Given the description of an element on the screen output the (x, y) to click on. 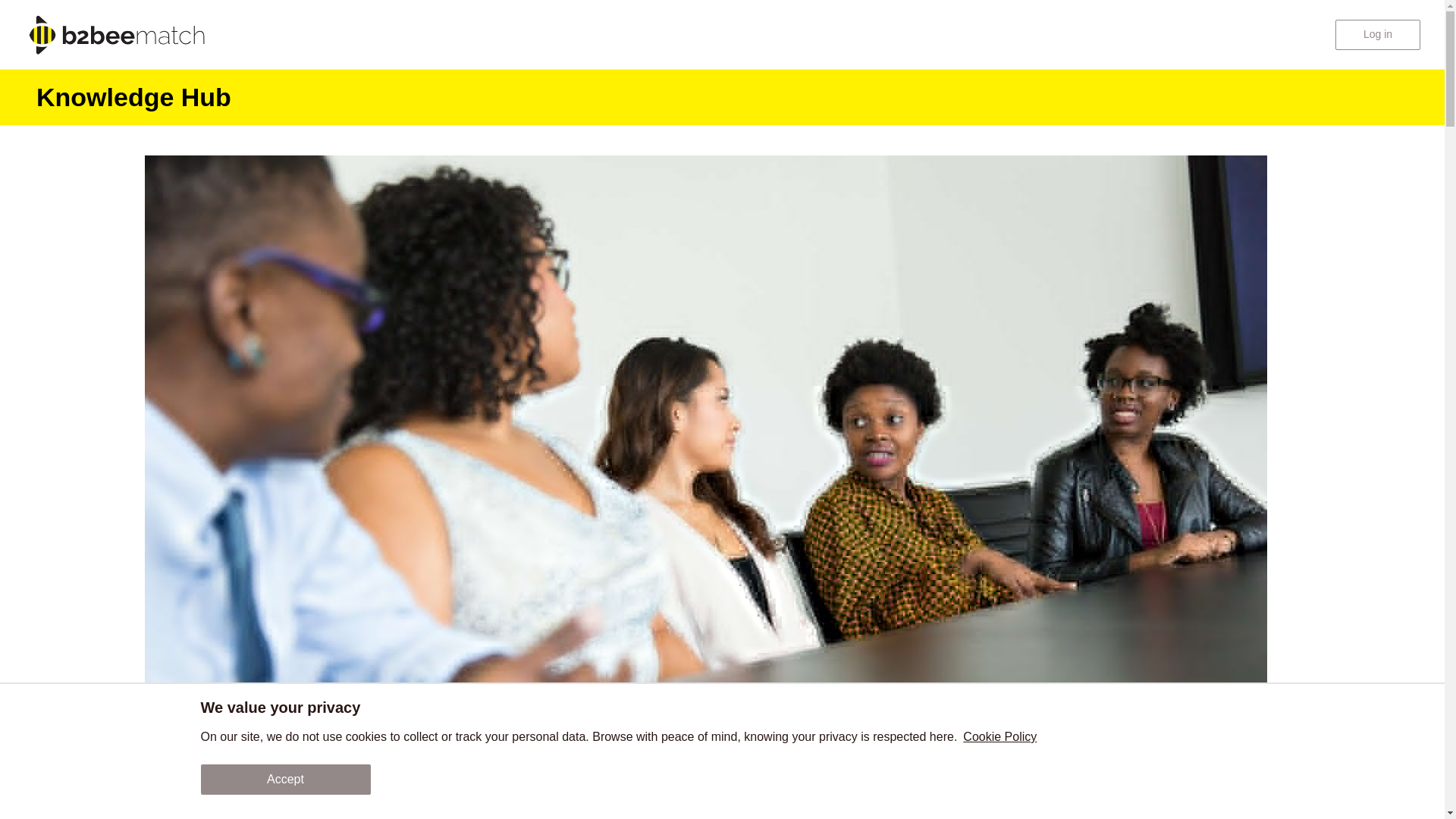
Log in (1378, 34)
